Given the description of an element on the screen output the (x, y) to click on. 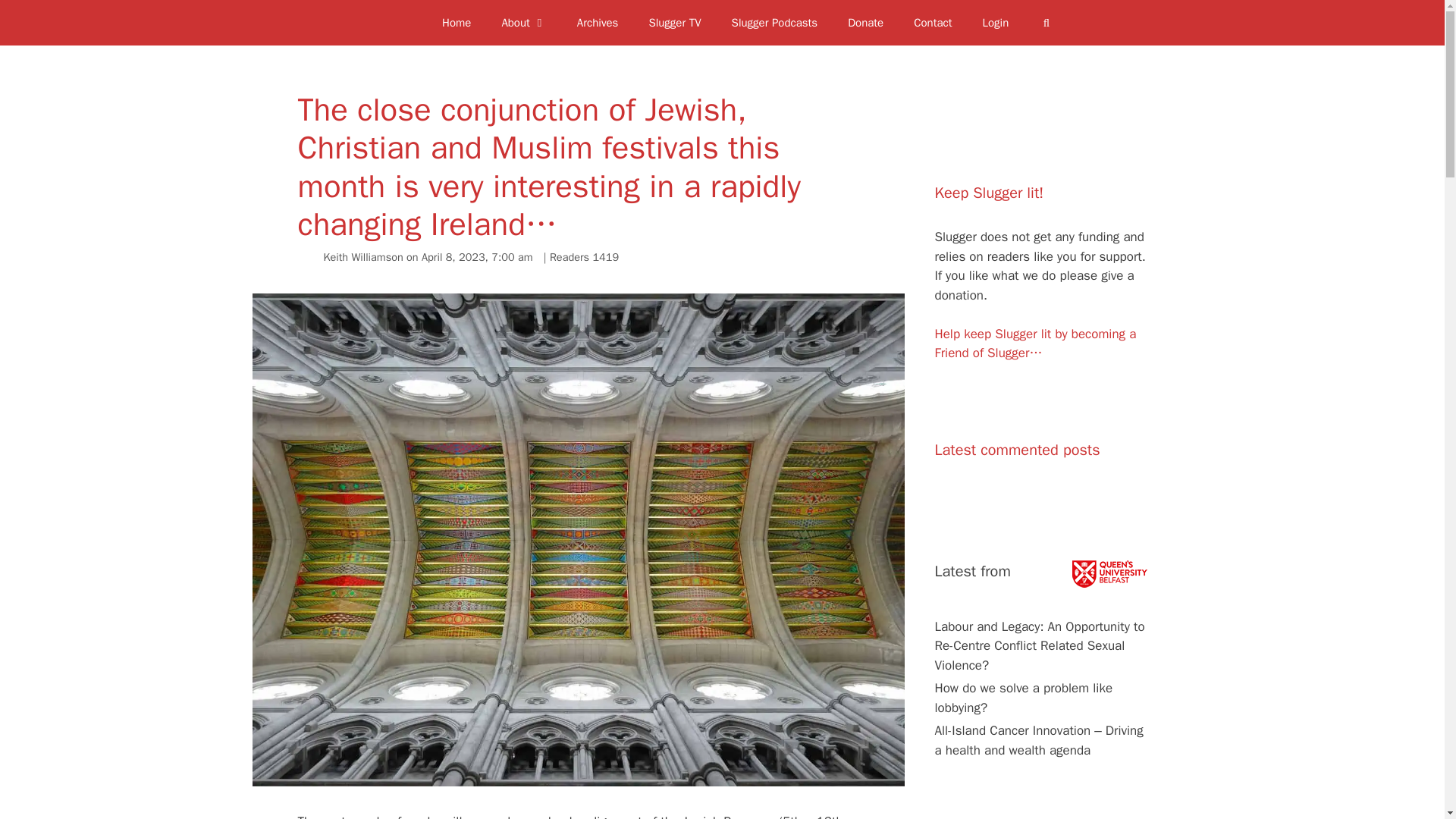
Contact (932, 22)
Slugger Podcasts (774, 22)
Keith Williamson (363, 256)
View all posts by Keith Williamson (363, 256)
Login (996, 22)
About (523, 22)
Home (456, 22)
Archives (597, 22)
Slugger O'Toole (397, 22)
Slugger TV (674, 22)
